Given the description of an element on the screen output the (x, y) to click on. 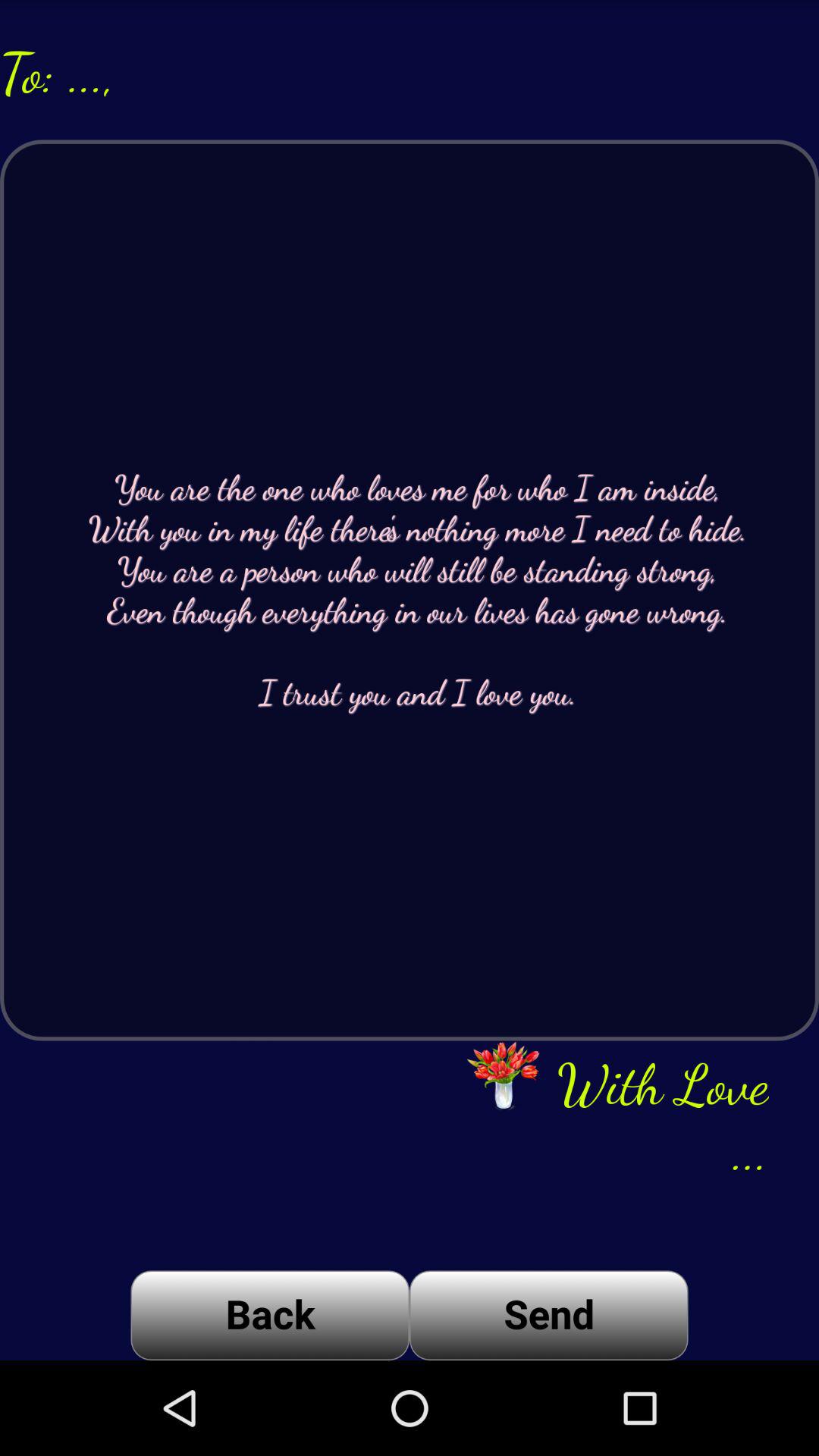
launch item next to back icon (548, 1315)
